Given the description of an element on the screen output the (x, y) to click on. 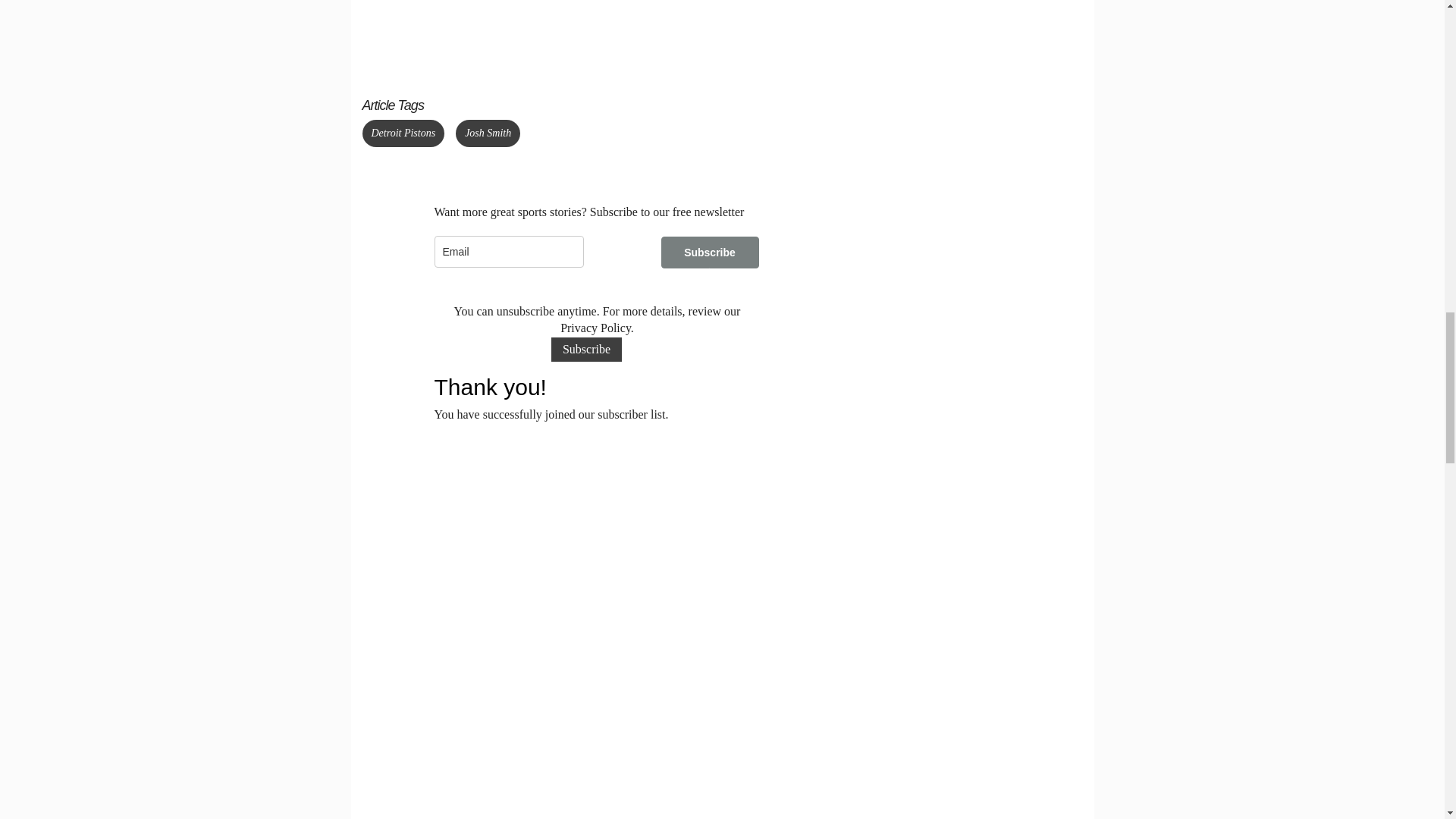
Subscribe (709, 252)
Josh Smith (487, 133)
Detroit Pistons (403, 133)
